Given the description of an element on the screen output the (x, y) to click on. 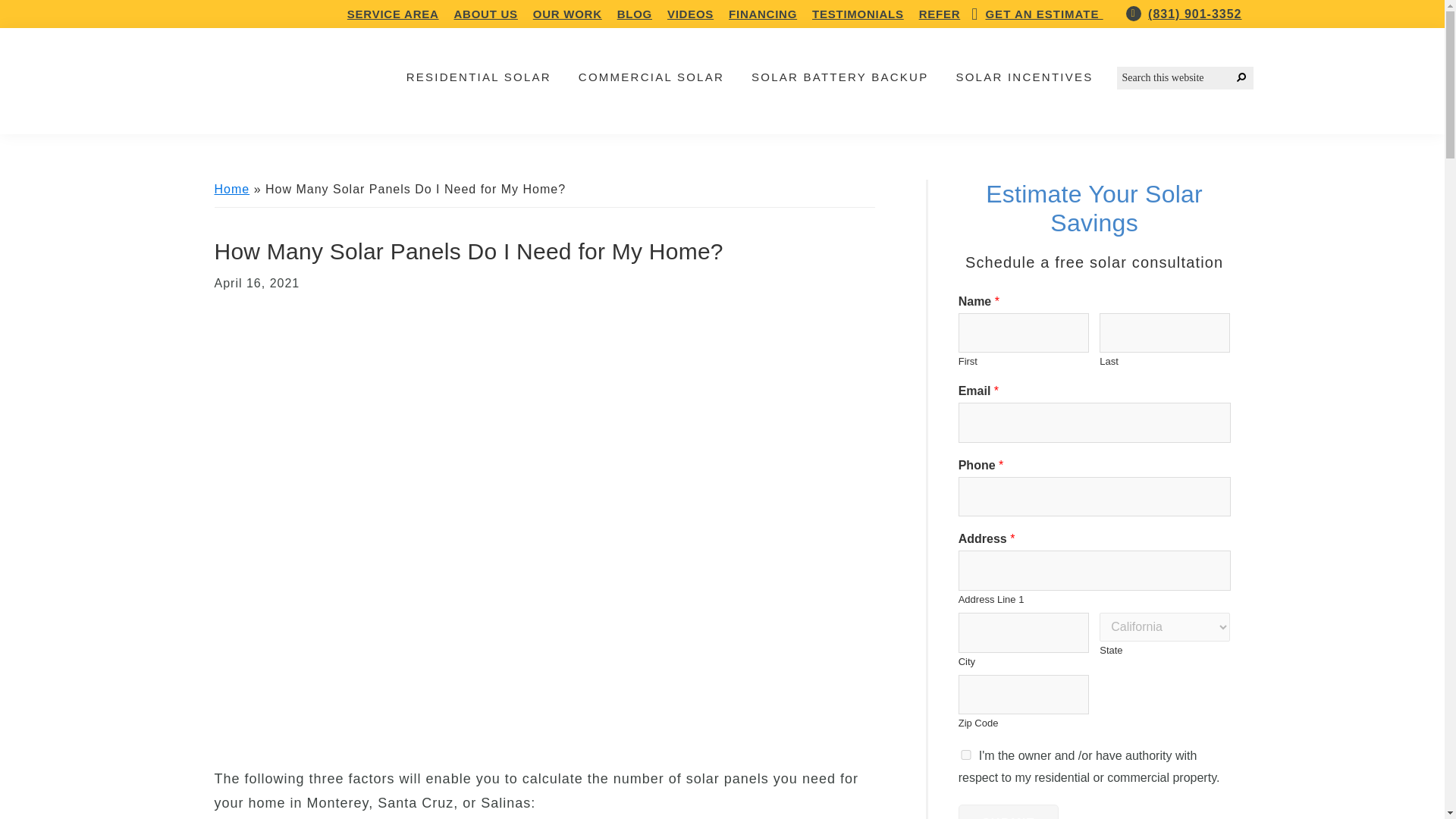
GET AN ESTIMATE (1043, 13)
Commercial Solar Installation (651, 76)
OUR WORK (567, 13)
TESTIMONIALS (858, 13)
RESIDENTIAL SOLAR (478, 76)
SERVICE AREA (393, 13)
COMMERCIAL SOLAR (651, 76)
Home (231, 188)
BLOG (634, 13)
SUBMIT (1008, 811)
REFER (939, 13)
FINANCING (762, 13)
VIDEOS (689, 13)
SOLAR BATTERY BACKUP (839, 76)
